Given the description of an element on the screen output the (x, y) to click on. 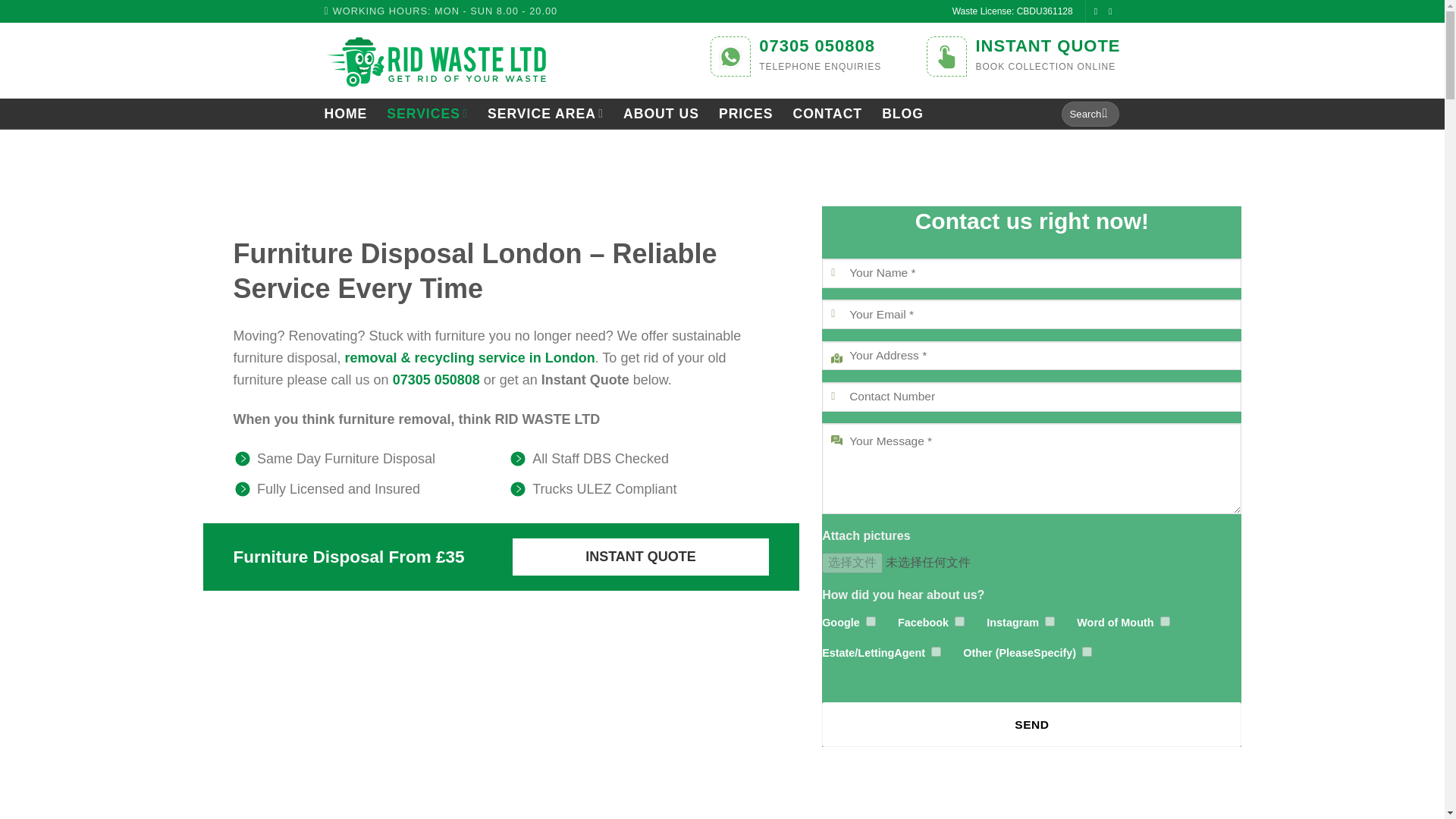
Facebook (959, 621)
Working Hours: Mon - Sun 8.00 - 20.00  (440, 11)
Send (1031, 723)
INSTANT QUOTE (1047, 45)
Word of Mouth (1165, 621)
Instagram (1049, 621)
Google (871, 621)
WORKING HOURS: MON - SUN 8.00 - 20.00 (440, 11)
07305 050808 (816, 45)
HOME (346, 113)
SERVICES (427, 112)
RID WASTE LTD - Get rid of your waste (436, 60)
